Given the description of an element on the screen output the (x, y) to click on. 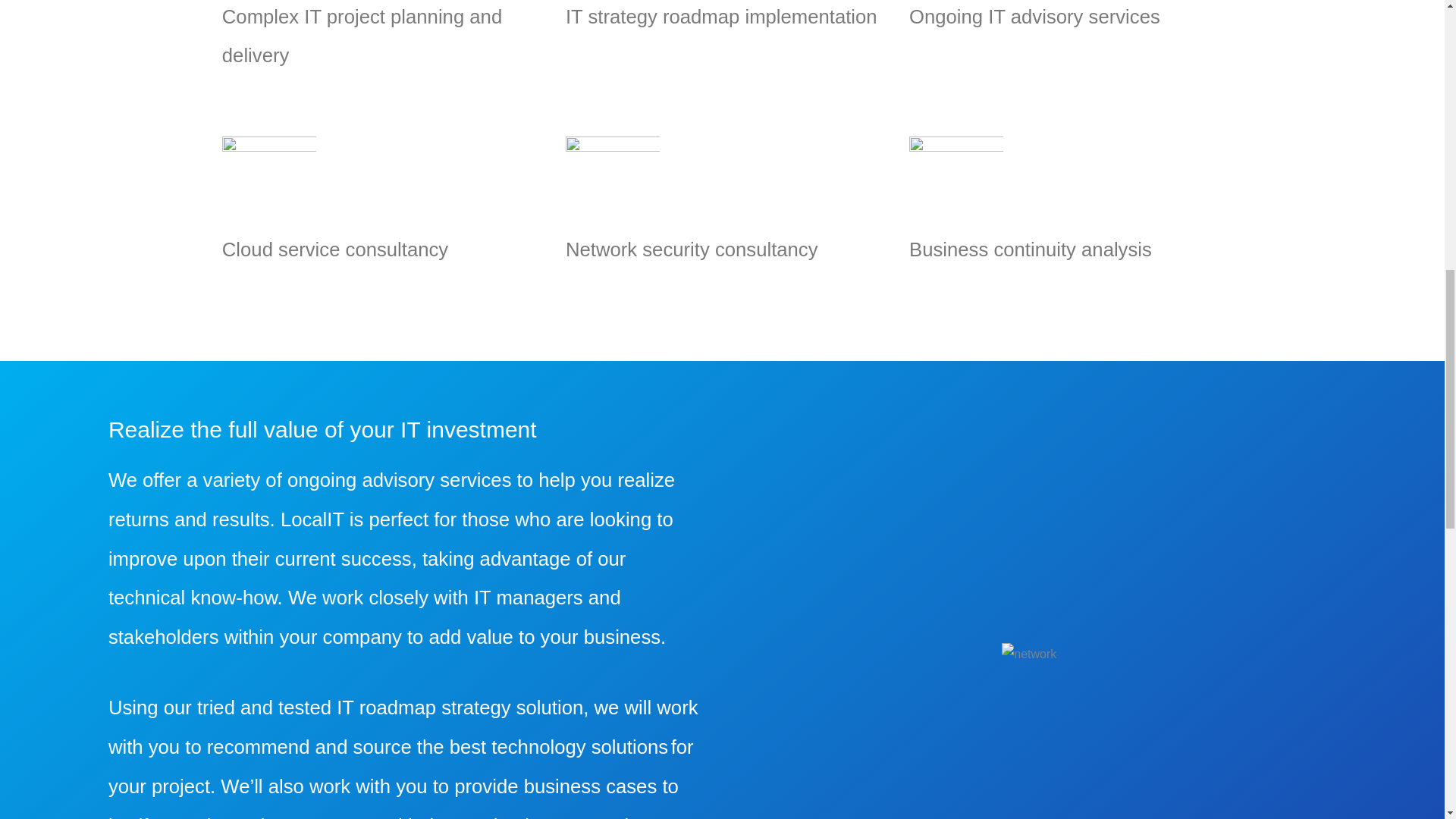
network (1029, 653)
